Given the description of an element on the screen output the (x, y) to click on. 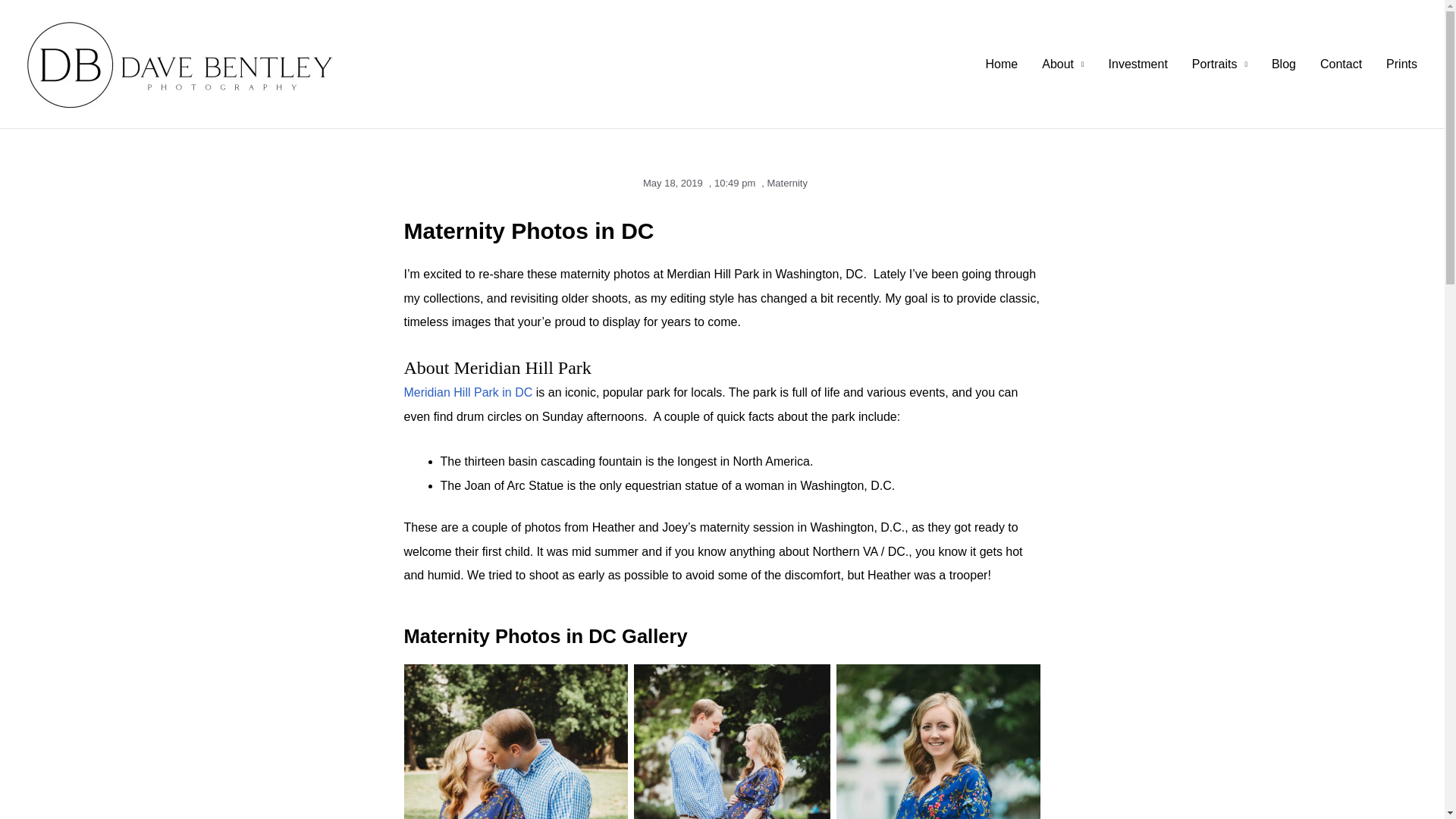
Maternity (787, 183)
May 18, 2019 (670, 183)
Meridian Hill Park in DC (467, 391)
